Given the description of an element on the screen output the (x, y) to click on. 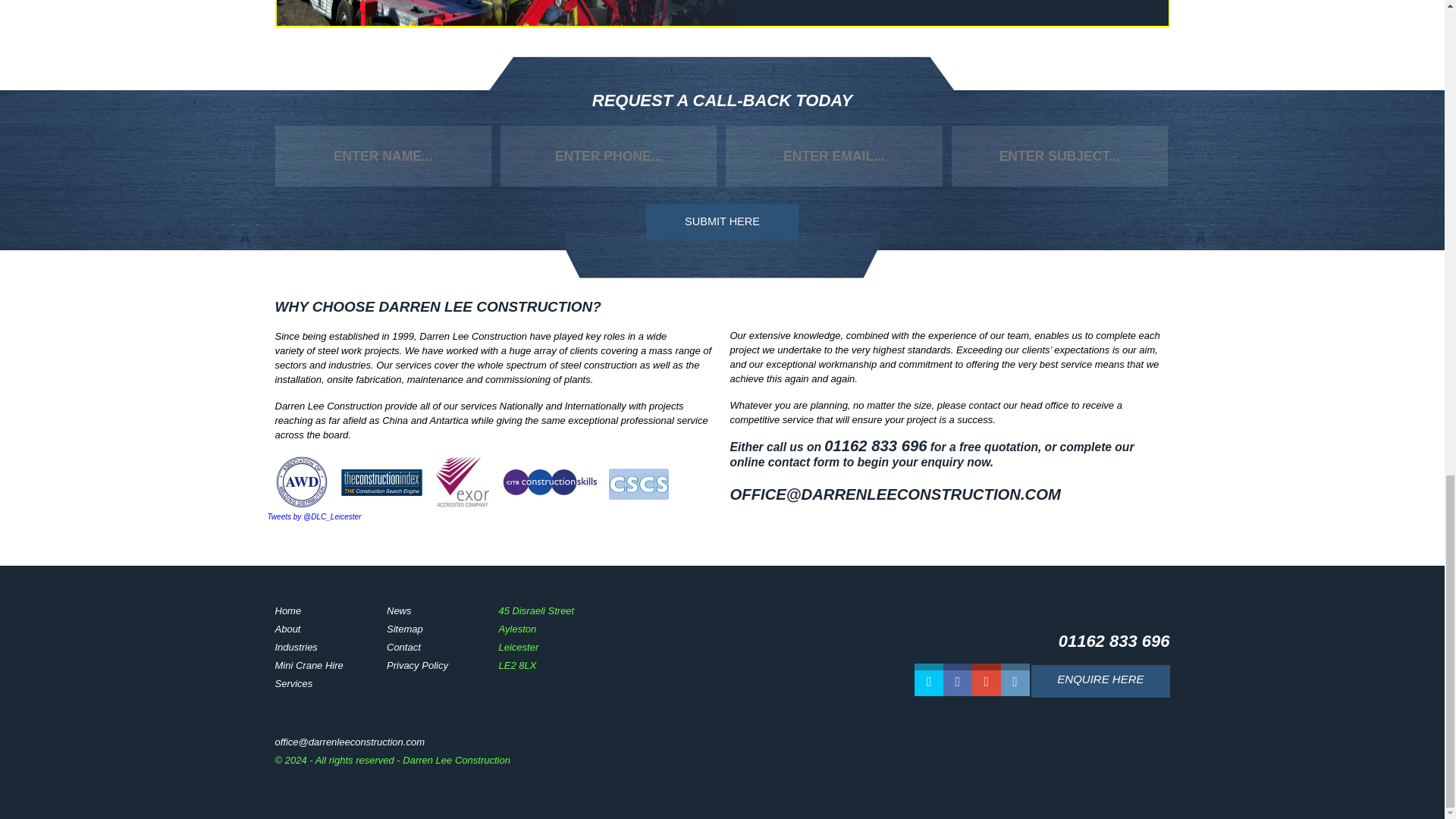
Submit here (721, 221)
